Given the description of an element on the screen output the (x, y) to click on. 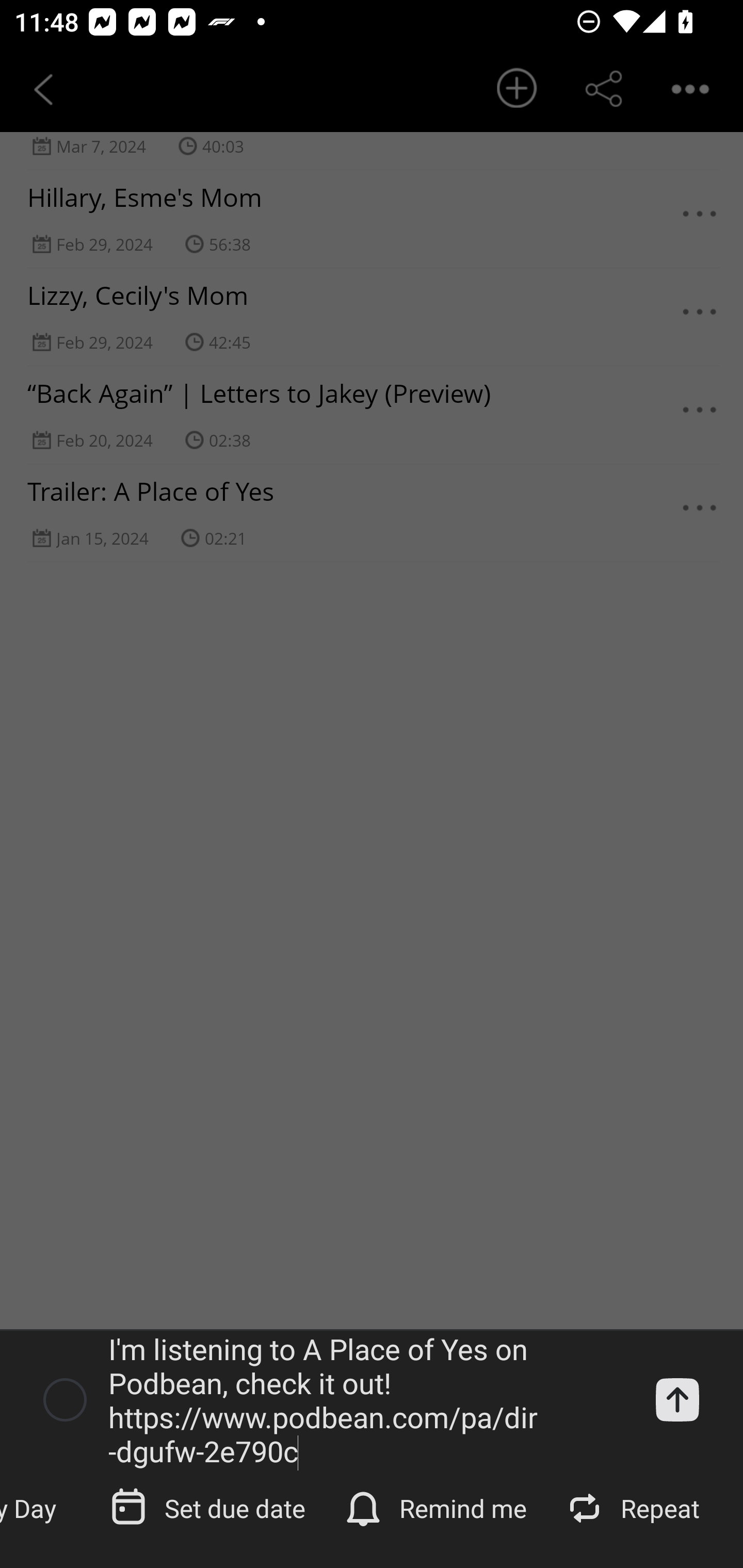
Add a task (676, 1399)
Set due date (209, 1507)
Remind me (437, 1507)
Repeat (634, 1507)
